Given the description of an element on the screen output the (x, y) to click on. 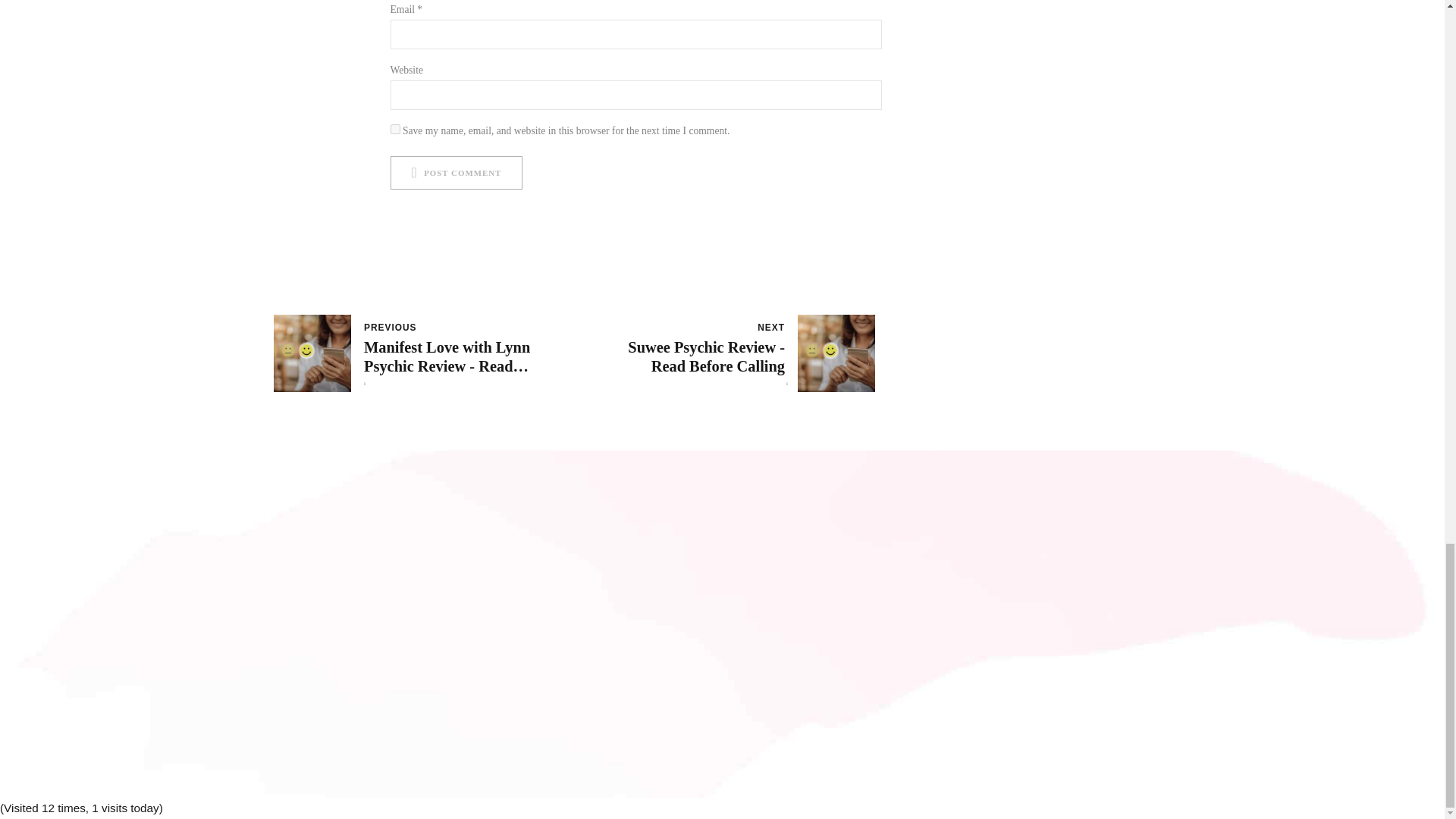
yes (394, 129)
